Given the description of an element on the screen output the (x, y) to click on. 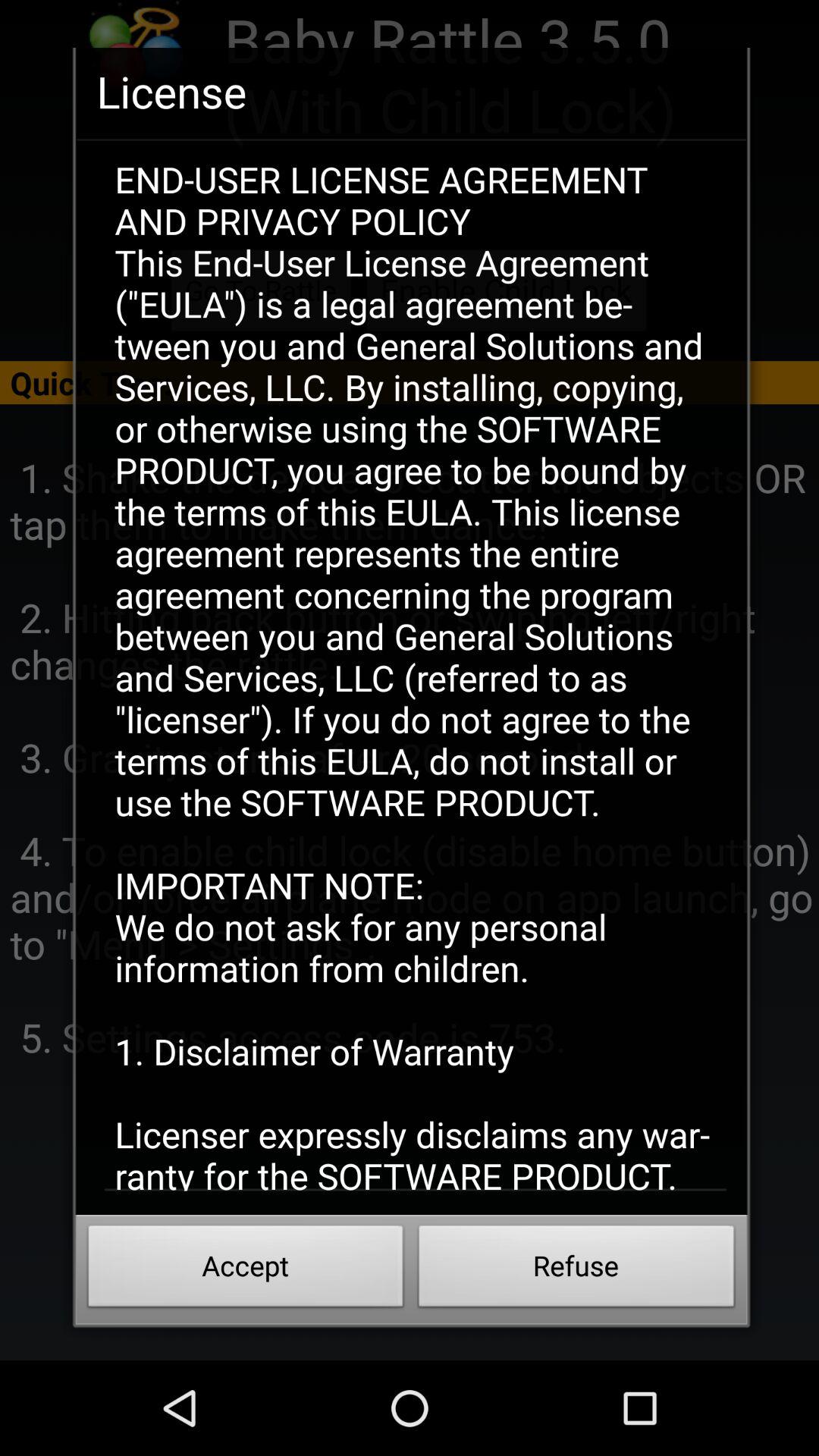
launch the button next to accept button (576, 1270)
